Given the description of an element on the screen output the (x, y) to click on. 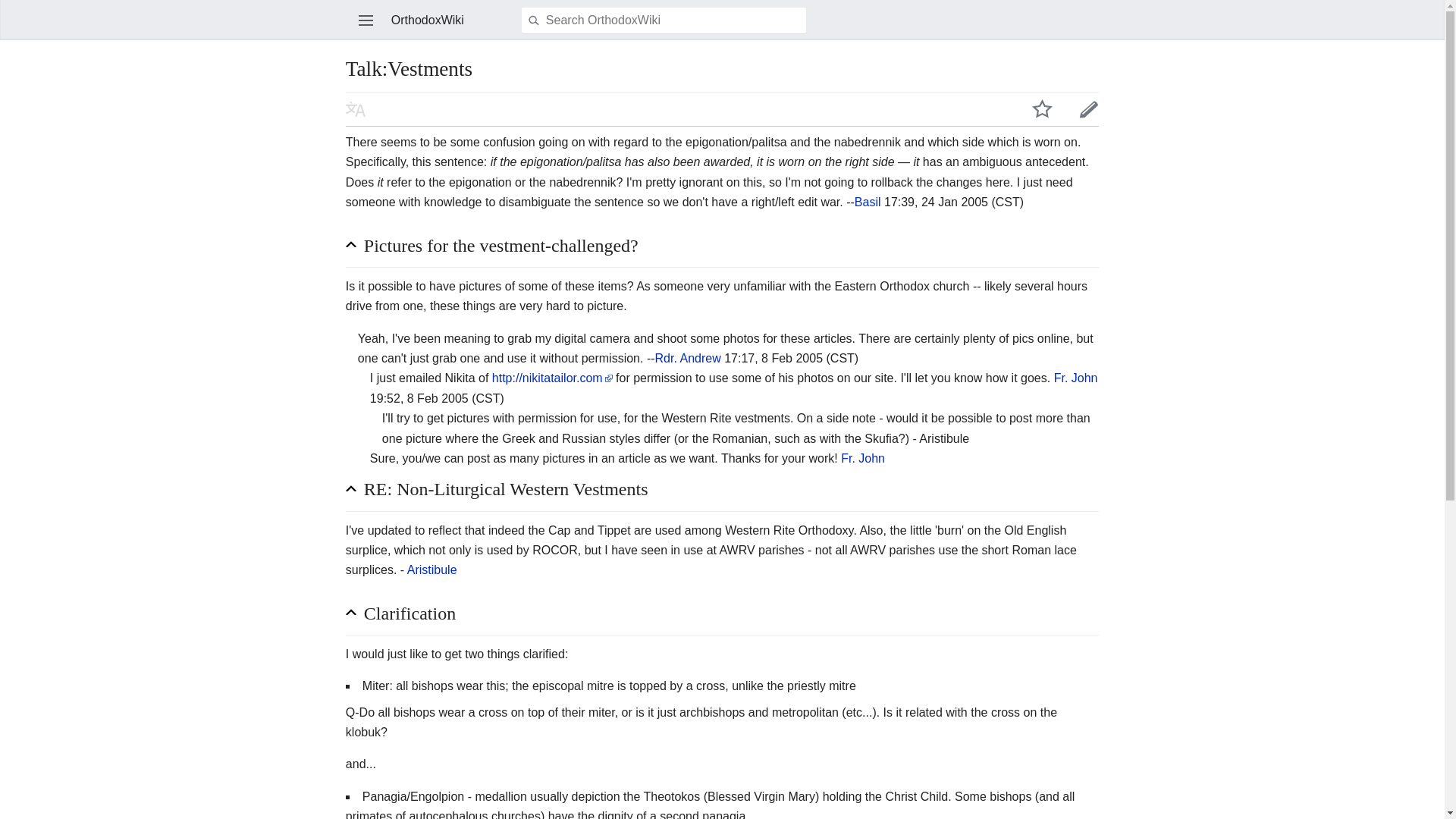
Aristibule (432, 569)
Fr. John (863, 458)
Open main menu (366, 20)
Basil (867, 201)
Read in another language (354, 108)
Fr. John (1075, 377)
Open main menu (366, 20)
User:Basil (867, 201)
User:Aristibule (432, 569)
Watch this page (1042, 108)
